Given the description of an element on the screen output the (x, y) to click on. 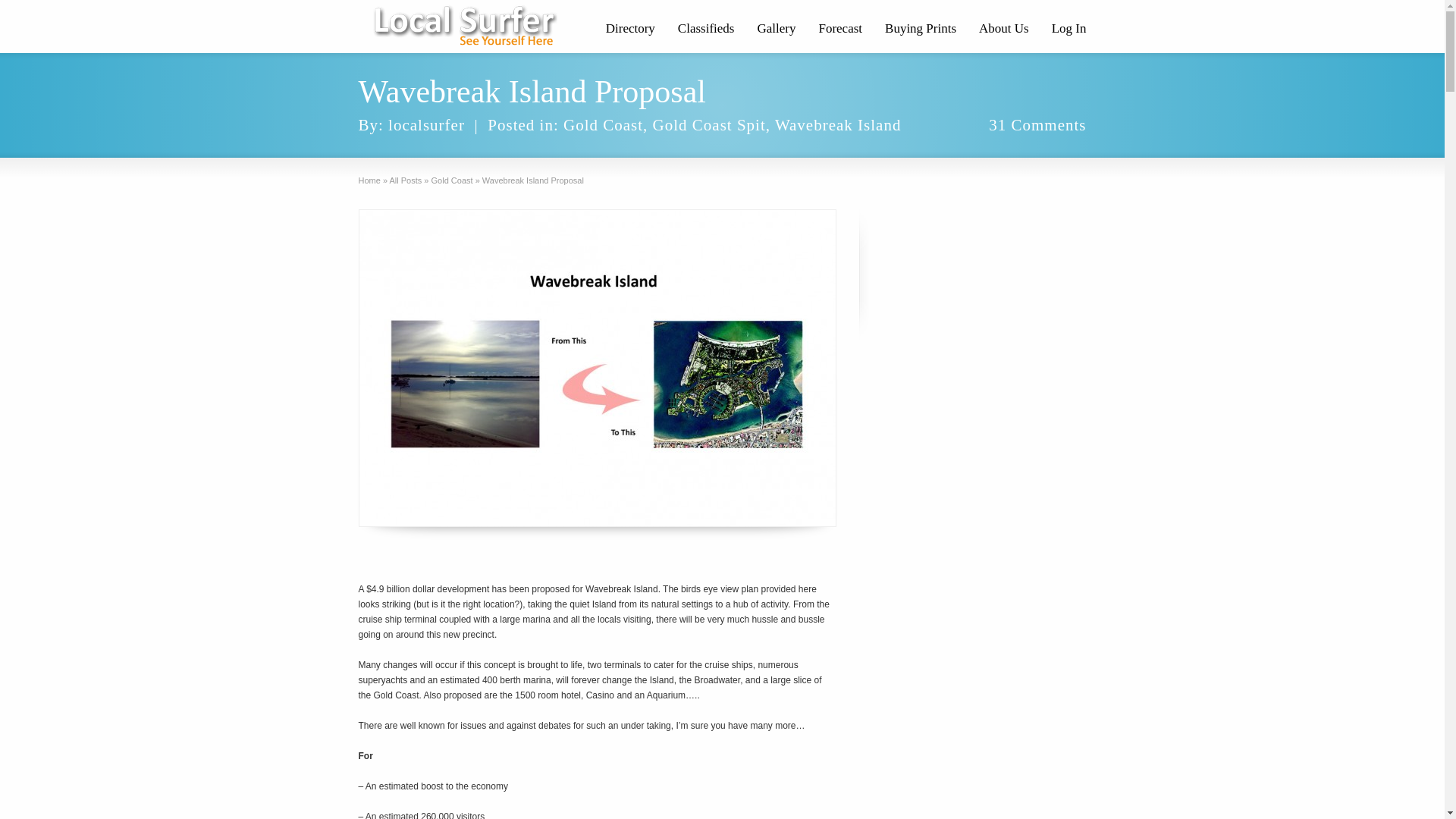
Gallery Element type: text (775, 30)
Buying Prints Element type: text (920, 30)
Log In Element type: text (1069, 30)
Home Element type: text (368, 180)
Gold Coast Element type: text (452, 180)
Forecast Element type: text (839, 30)
About Us Element type: text (1003, 30)
Wavebreak Island Proposal Element type: hover (596, 368)
Directory Element type: text (630, 30)
Classifieds Element type: text (706, 30)
31 Comments Element type: text (1036, 125)
All Posts Element type: text (405, 180)
Wavebreak Island Element type: text (838, 125)
Gold Coast Element type: text (603, 125)
Gold Coast Spit Element type: text (708, 125)
